Given the description of an element on the screen output the (x, y) to click on. 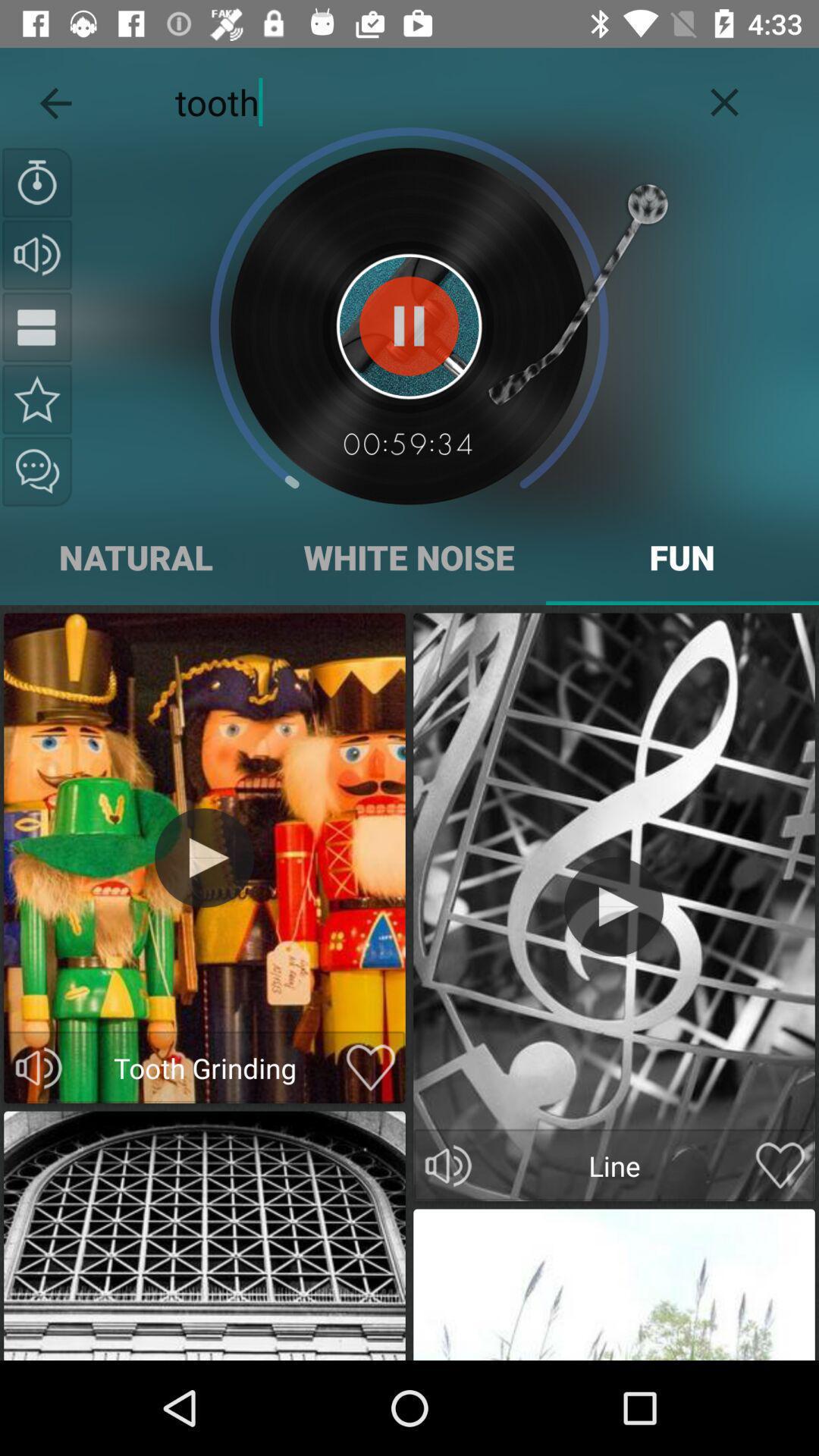
change volume (37, 255)
